Given the description of an element on the screen output the (x, y) to click on. 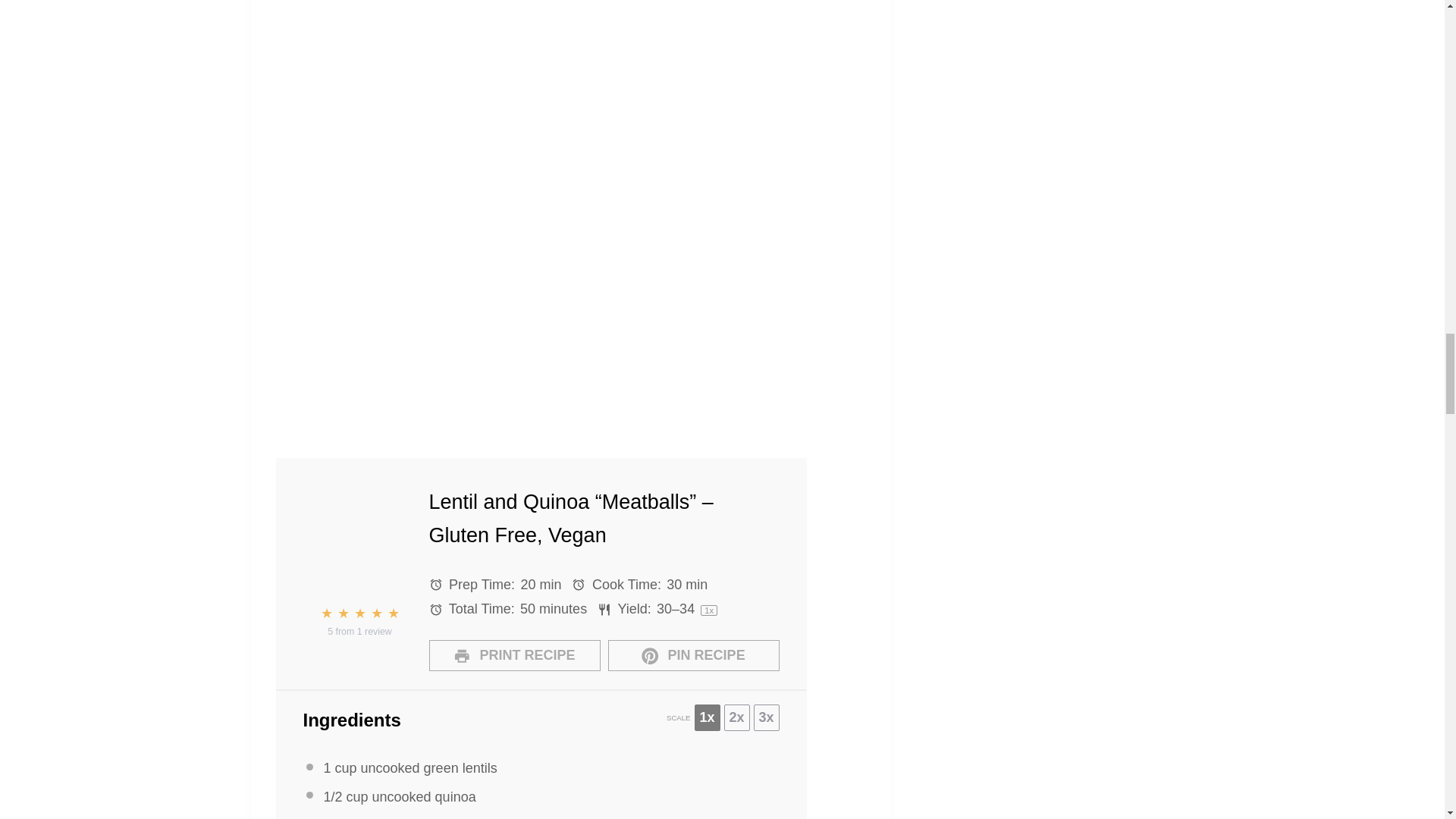
PRINT RECIPE (514, 654)
1x (707, 717)
PIN RECIPE (693, 654)
